Given the description of an element on the screen output the (x, y) to click on. 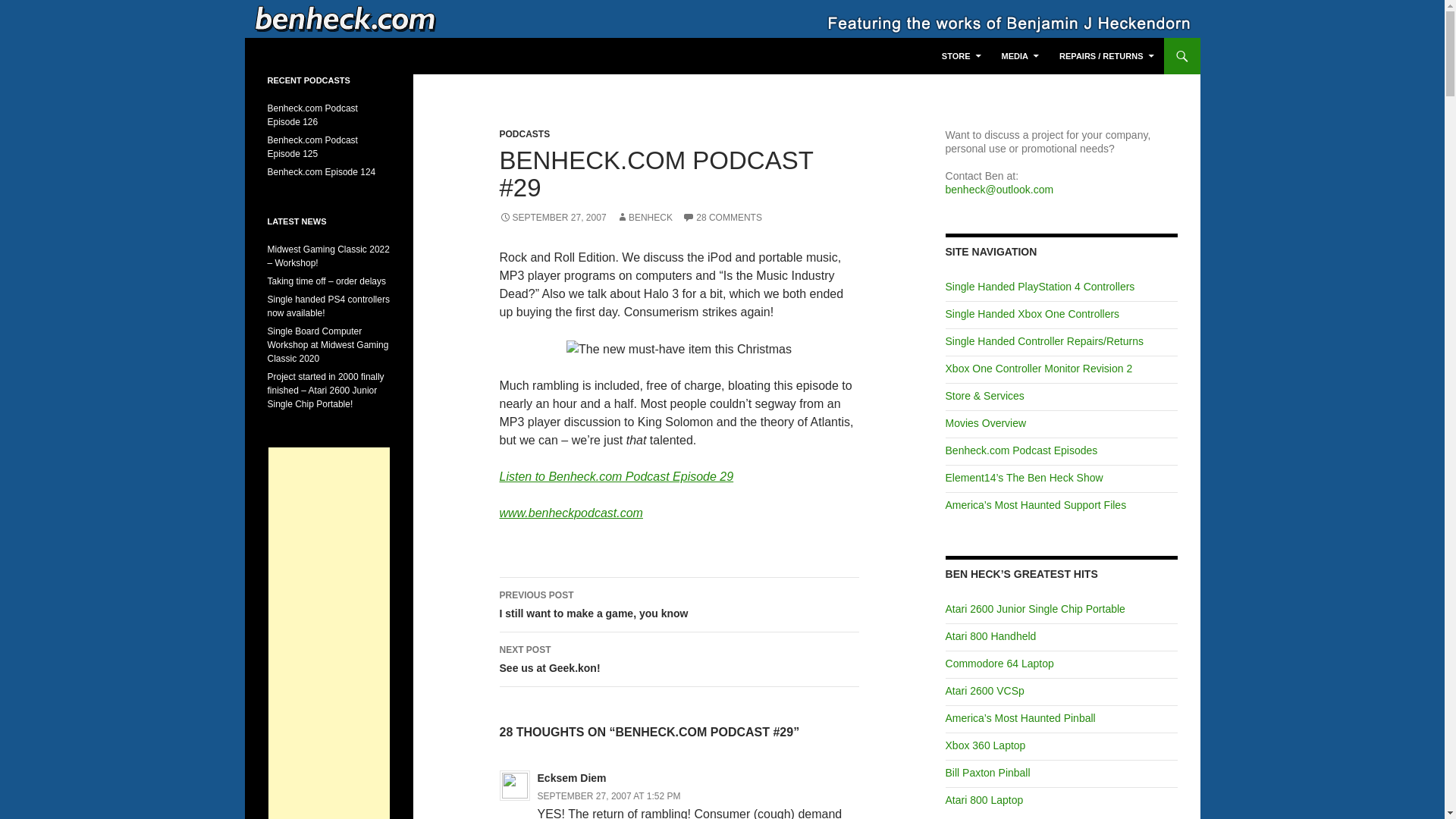
SEPTEMBER 27, 2007 (552, 217)
STORE (961, 55)
MEDIA (1020, 55)
Listen to Benheck.com Podcast Episode 29 (616, 476)
BENHECK (643, 217)
Ecksem Diem (572, 777)
PODCASTS (679, 659)
28 COMMENTS (524, 133)
The new must-have item this Christmas (721, 217)
www.benheckpodcast.com (679, 349)
SKIP TO CONTENT (570, 512)
